Given the description of an element on the screen output the (x, y) to click on. 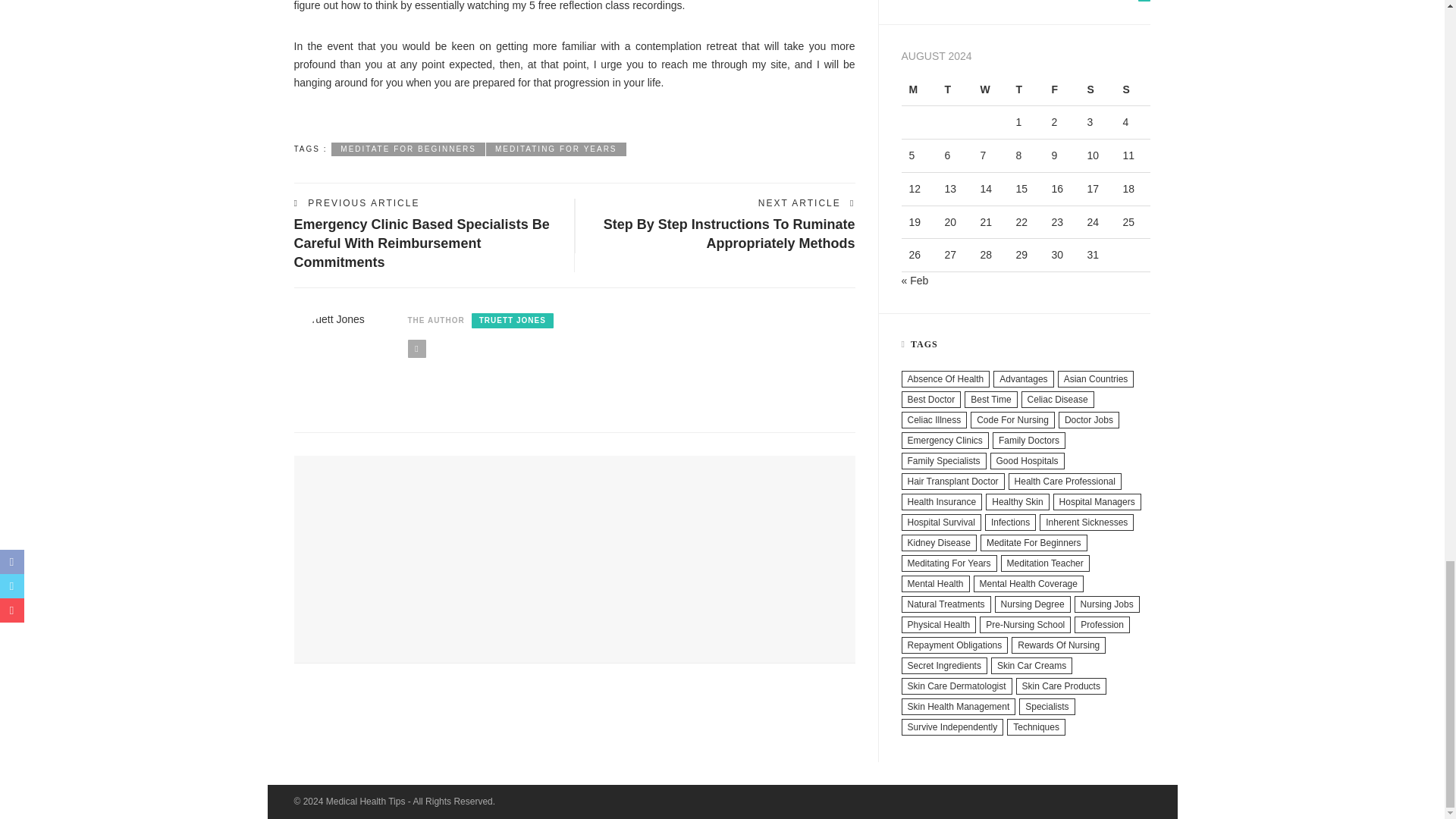
Step by step instructions to Ruminate Appropriately Methods (730, 233)
Meditating For Years (556, 149)
Meditate for Beginners (407, 149)
Website (416, 348)
